Given the description of an element on the screen output the (x, y) to click on. 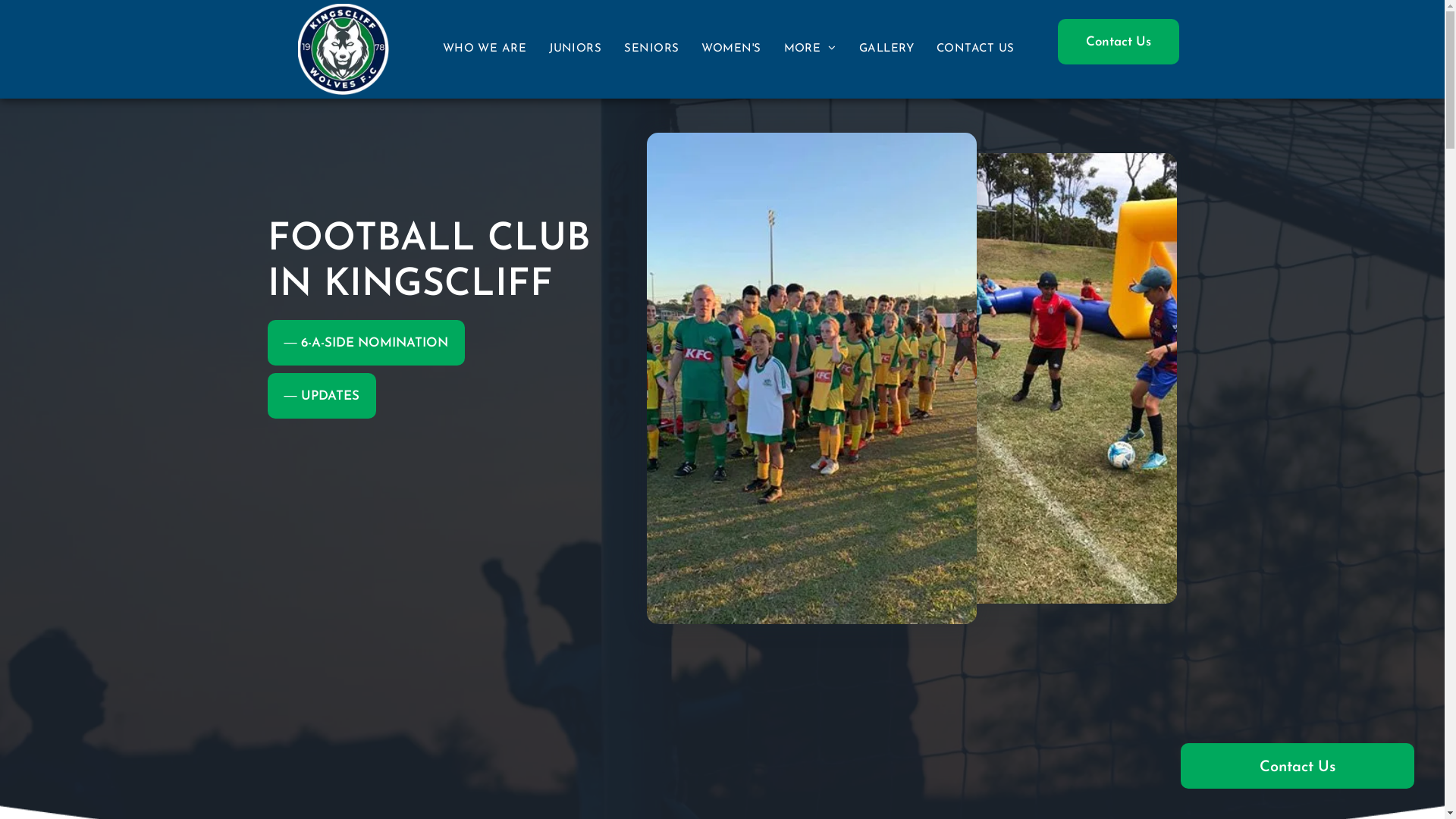
Football Clubs in Kingscliff NSW 2487 Element type: hover (342, 48)
MORE Element type: text (809, 49)
WHO WE ARE Element type: text (484, 49)
CONTACT US Element type: text (975, 49)
Contact Us Element type: text (1297, 765)
GALLERY Element type: text (886, 49)
SENIORS Element type: text (651, 49)
JUNIORS Element type: text (574, 49)
WOMEN'S Element type: text (730, 49)
Contact Us Element type: text (1118, 41)
